Given the description of an element on the screen output the (x, y) to click on. 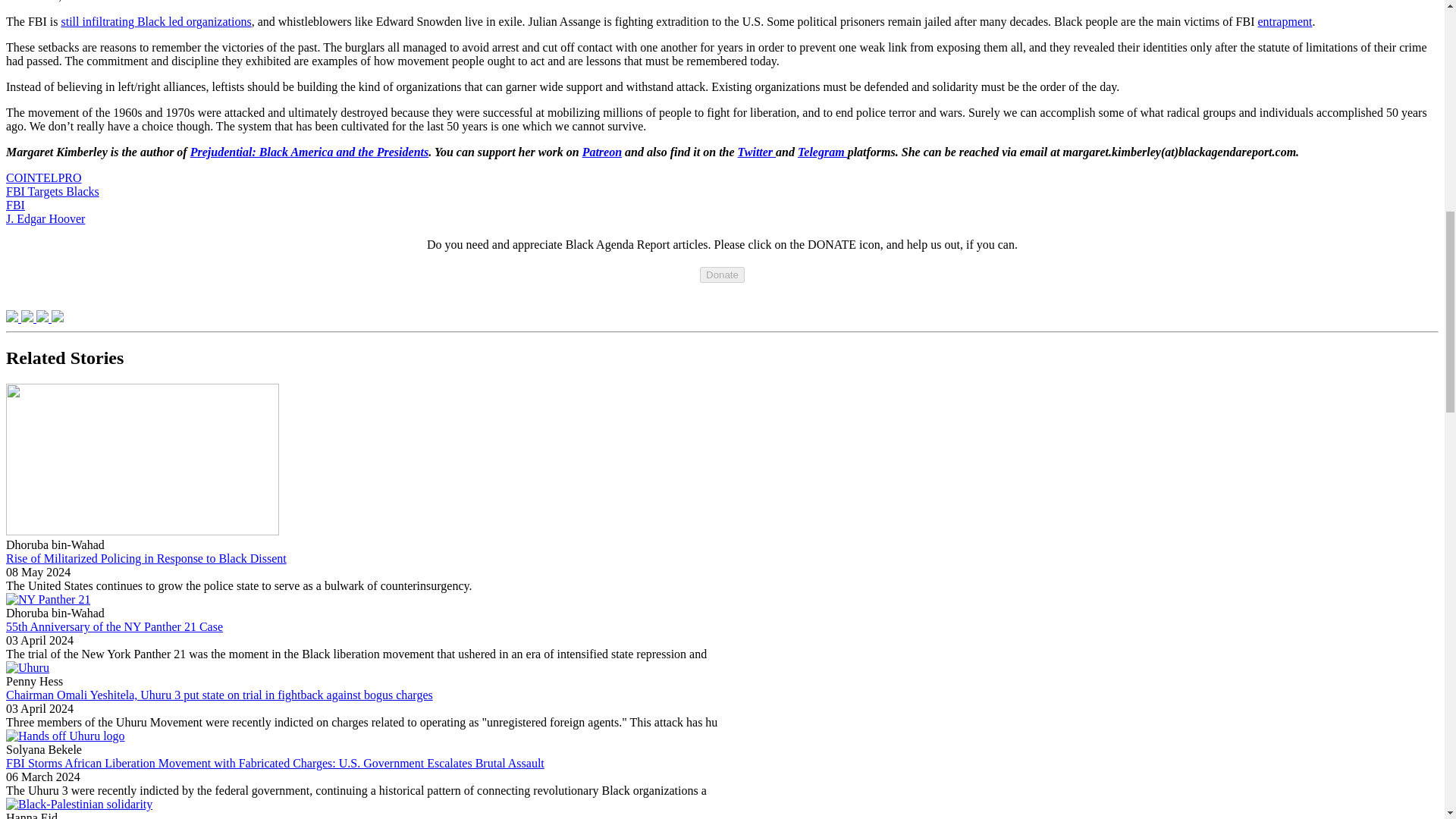
Twitter  (757, 151)
Patreon (601, 151)
Telegram  (822, 151)
Donate (722, 273)
entrapment (1284, 21)
J. Edgar Hoover (44, 218)
COINTELPRO (43, 177)
FBI (14, 205)
FBI Targets Blacks (52, 191)
Donate (722, 274)
